Given the description of an element on the screen output the (x, y) to click on. 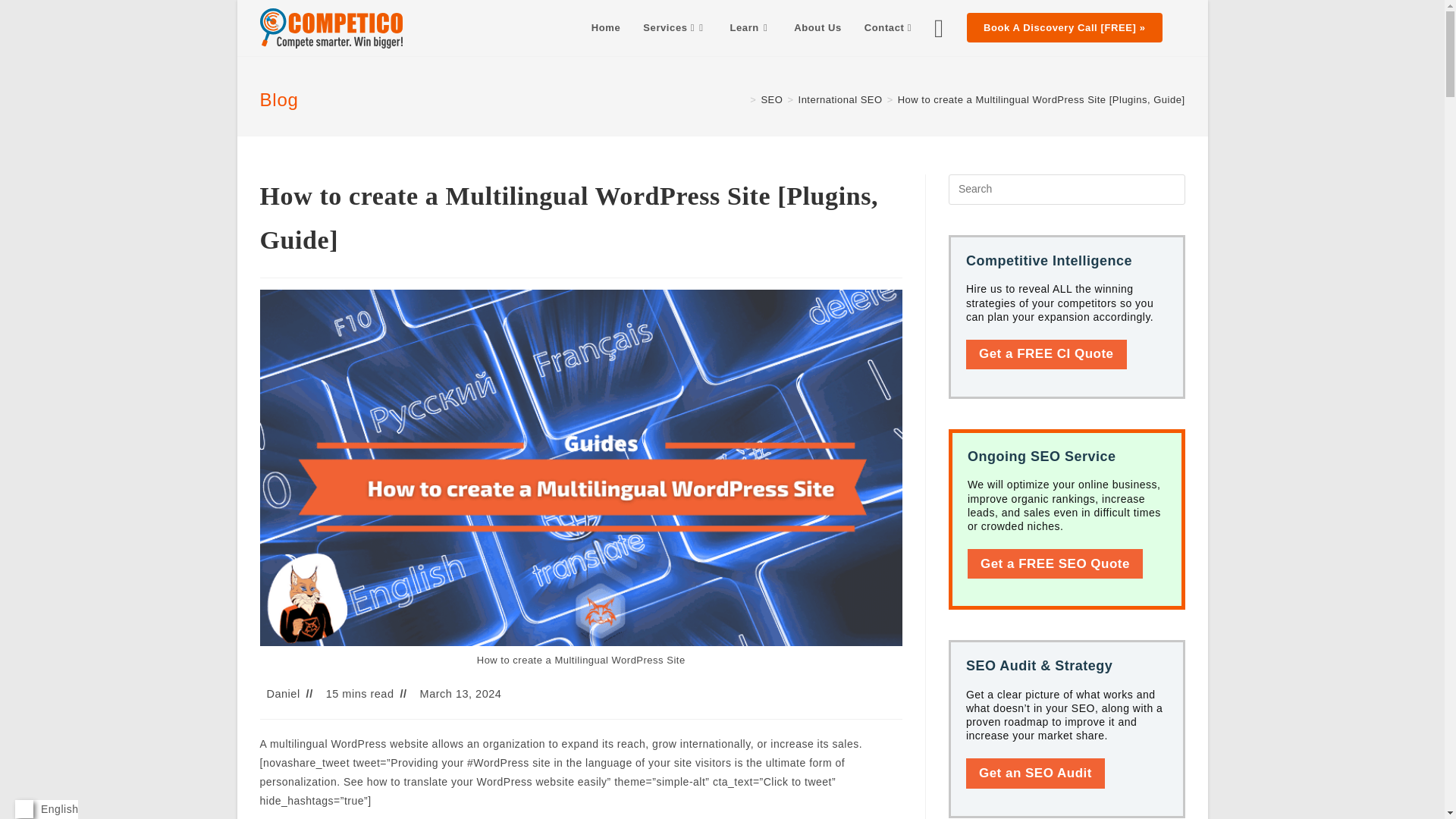
Ongoing SEO Services (1055, 563)
SEO (771, 99)
Daniel (282, 693)
International SEO (839, 99)
About Us (818, 28)
Competitive Intelligence Services (1046, 354)
Posts by Daniel (282, 693)
Home (605, 28)
Learn (751, 28)
